Given the description of an element on the screen output the (x, y) to click on. 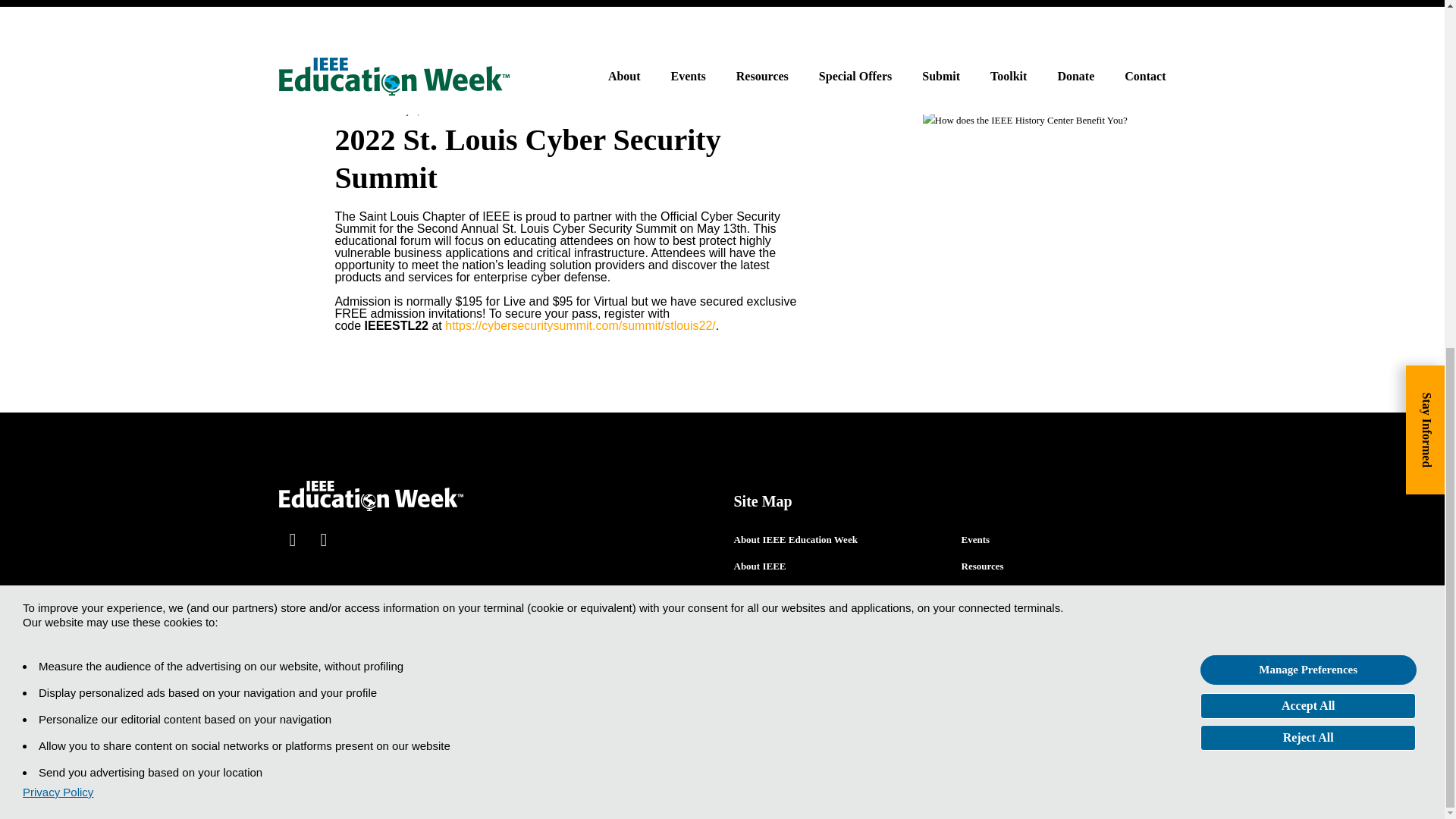
IEEE Education Week Partners (800, 592)
Manage Preferences (1307, 70)
Ieeeeduweek (359, 111)
Reject All (1307, 138)
2022 St. Louis Cyber Security Summit (571, 166)
About IEEE (759, 565)
Privacy Policy (58, 193)
Accept All (1307, 106)
About IEEE Education Week (795, 539)
